Given the description of an element on the screen output the (x, y) to click on. 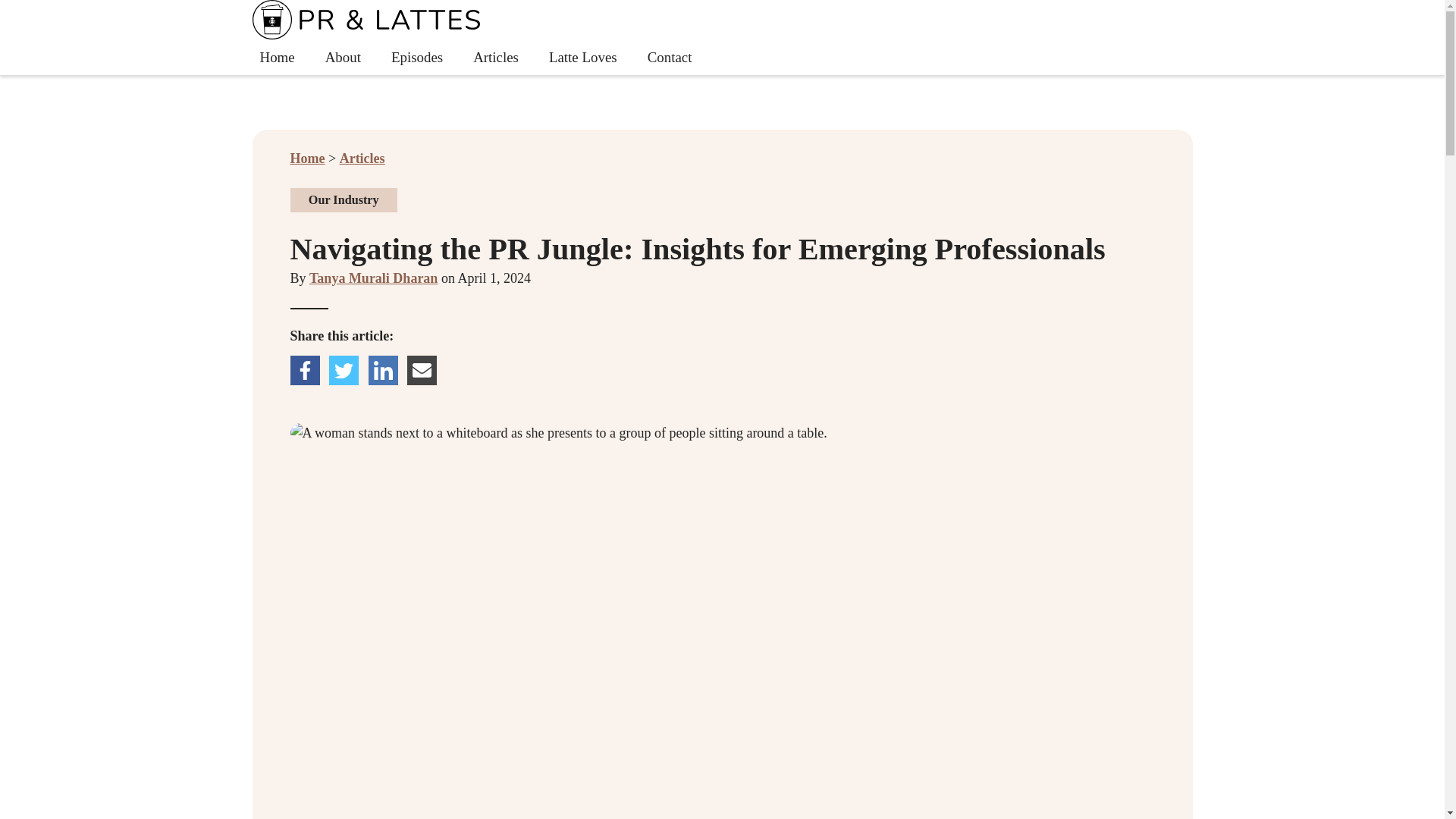
Latte Loves (582, 57)
Articles (362, 158)
Episodes (416, 57)
About (342, 57)
Articles (722, 38)
Tanya Murali Dharan (495, 57)
Home (373, 278)
Home (276, 57)
Contact (306, 158)
